Given the description of an element on the screen output the (x, y) to click on. 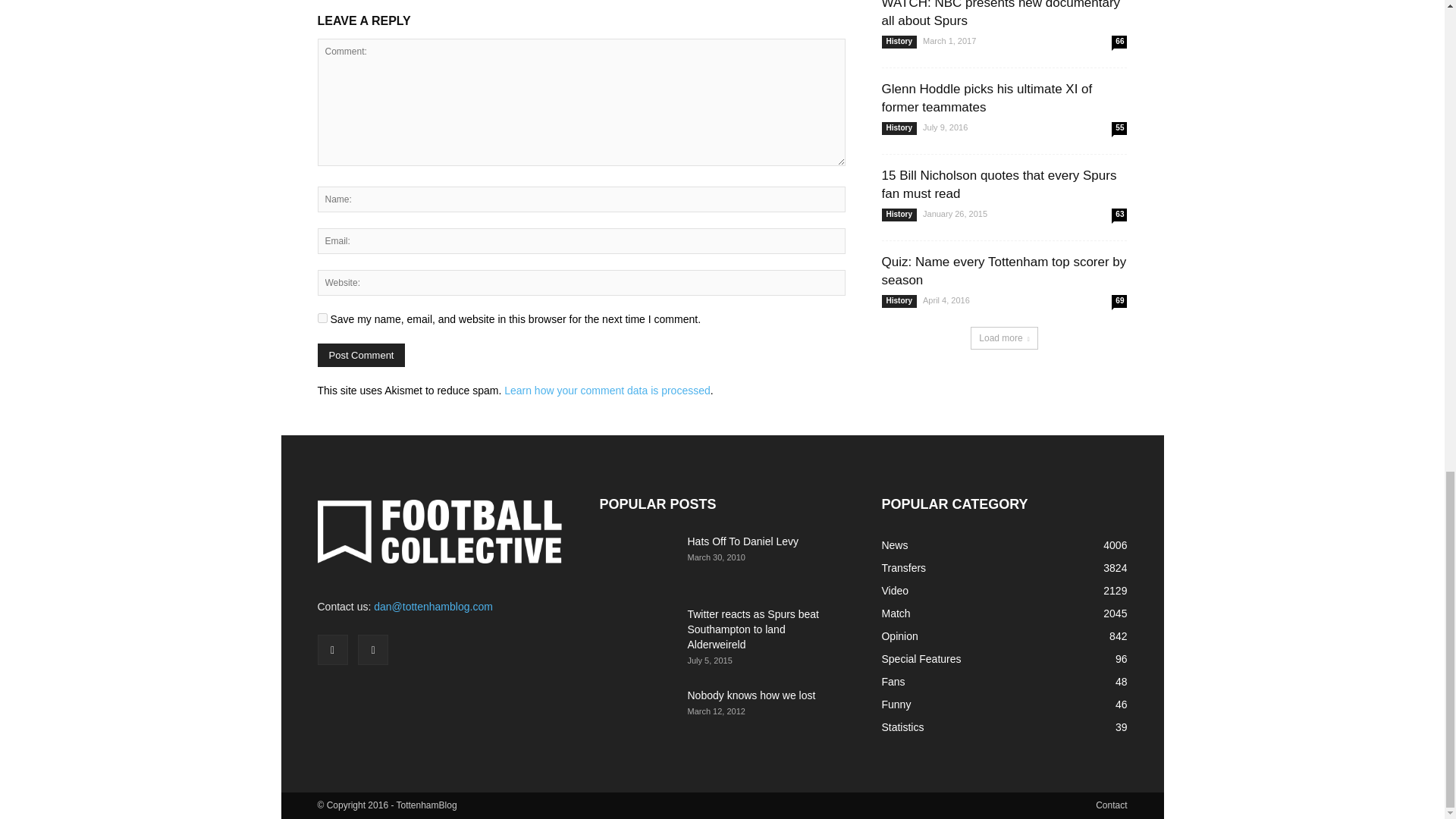
15 Bill Nicholson quotes that every Spurs fan must read (998, 184)
yes (321, 317)
Post Comment (360, 354)
WATCH: NBC presents new documentary all about Spurs (999, 13)
Glenn Hoddle picks his ultimate XI of former teammates (986, 97)
